Given the description of an element on the screen output the (x, y) to click on. 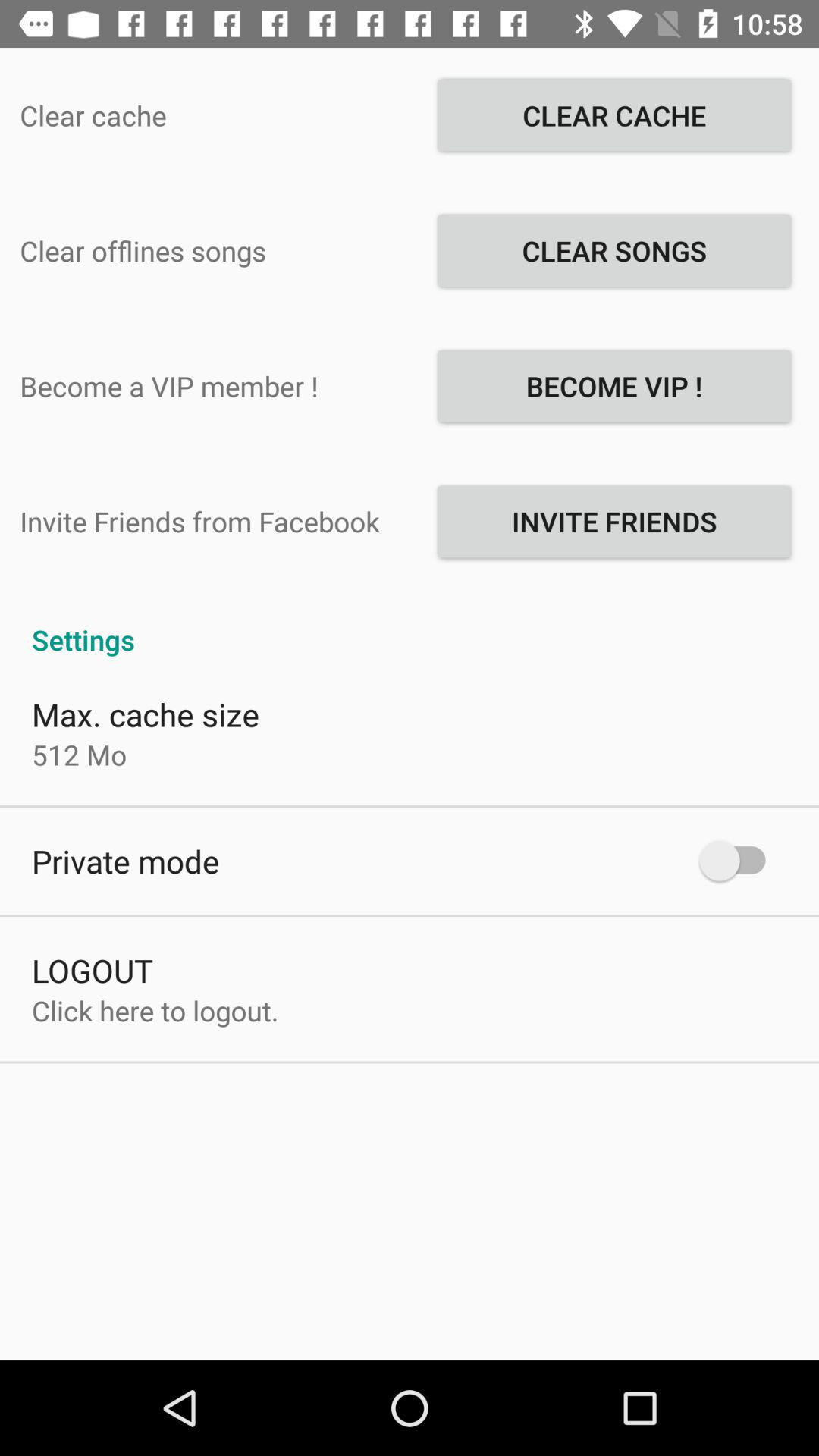
choose settings item (409, 623)
